Given the description of an element on the screen output the (x, y) to click on. 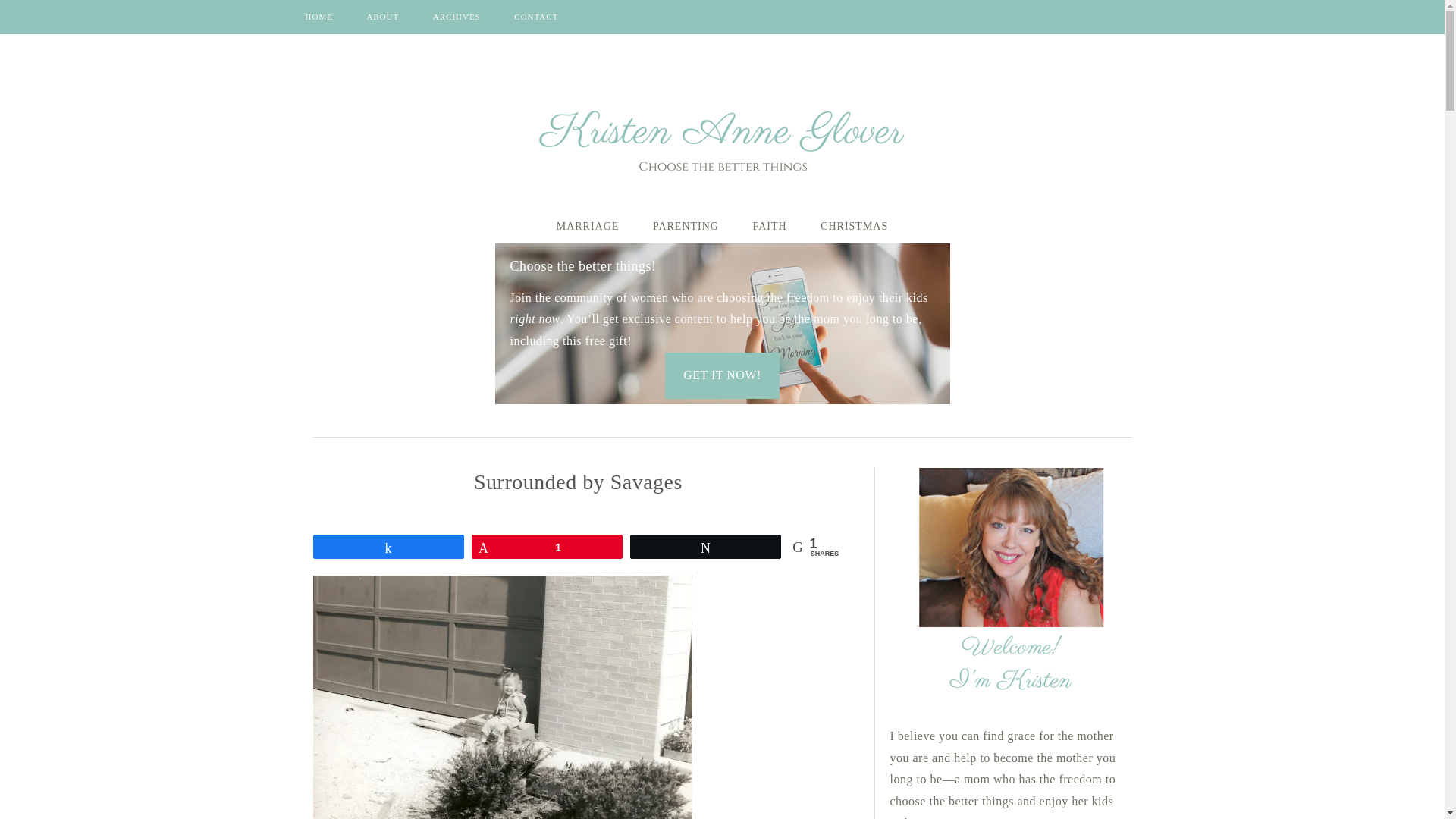
CHRISTMAS (853, 226)
April 1979 b (502, 697)
ARCHIVES (456, 17)
GET IT NOW! (721, 375)
FAITH (769, 226)
1 (546, 546)
MARRIAGE (587, 226)
HOME (318, 17)
PARENTING (685, 226)
ABOUT (381, 17)
KRISTEN ANNE GLOVER (721, 136)
CONTACT (536, 17)
